Given the description of an element on the screen output the (x, y) to click on. 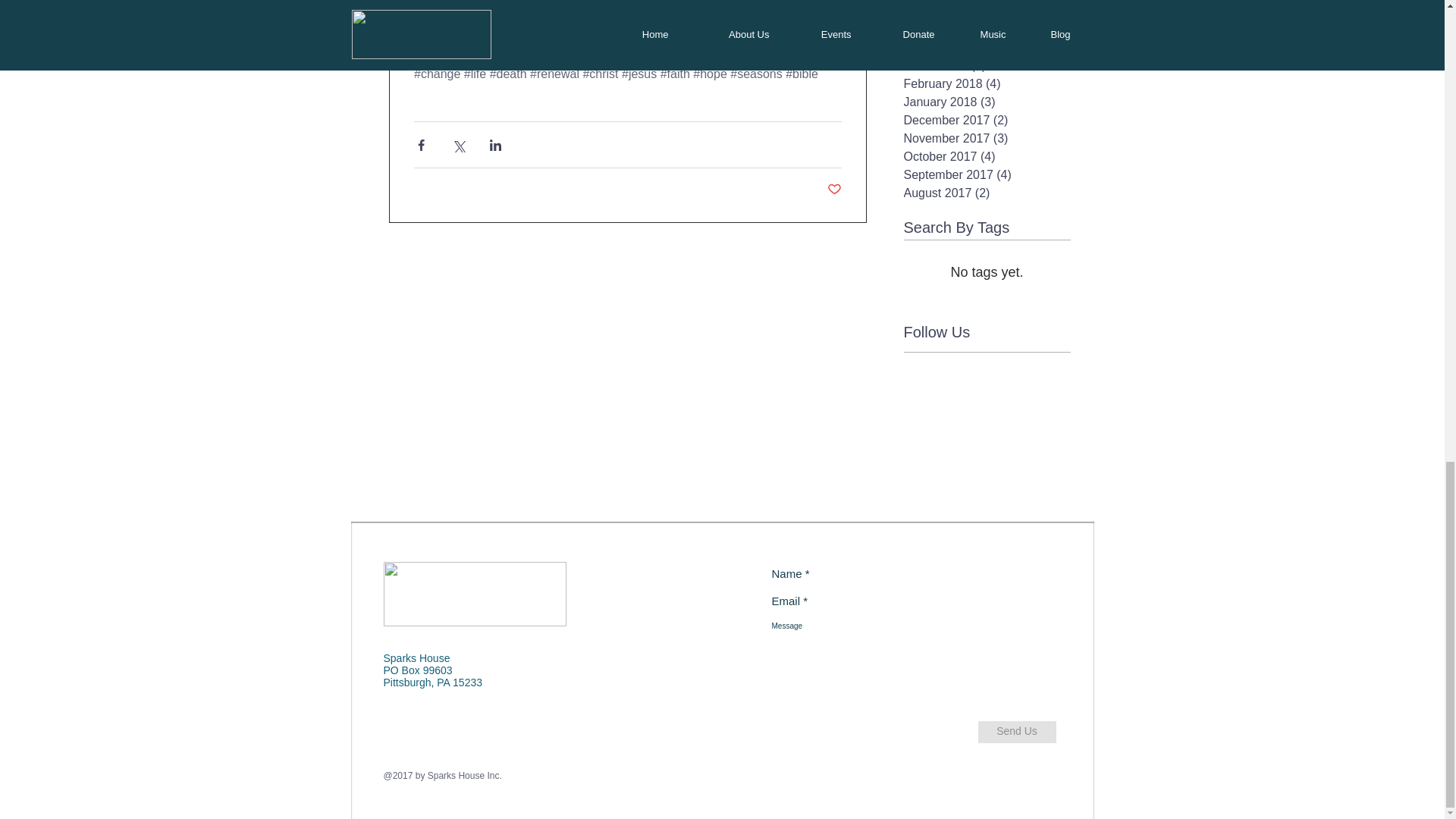
Post not marked as liked (834, 189)
